Given the description of an element on the screen output the (x, y) to click on. 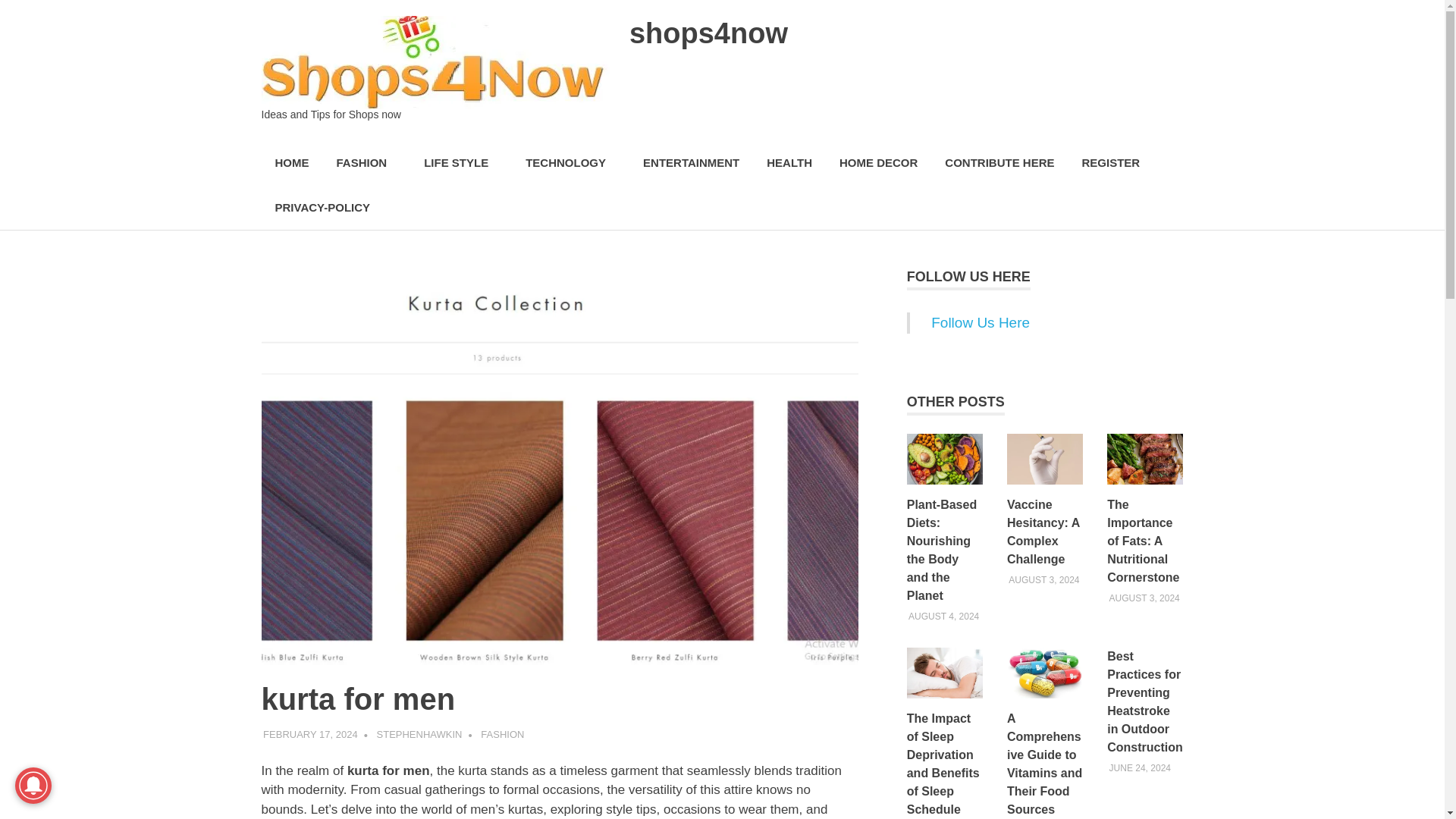
TECHNOLOGY (570, 162)
STEPHENHAWKIN (420, 734)
View all posts by stephenhawkin (420, 734)
HOME DECOR (878, 162)
PRIVACY-POLICY (322, 207)
REGISTER (1110, 162)
FASHION (502, 734)
LIFE STYLE (461, 162)
FEBRUARY 17, 2024 (310, 734)
CONTRIBUTE HERE (999, 162)
ENTERTAINMENT (690, 162)
FASHION (366, 162)
2:16 am (310, 734)
shops4now (707, 33)
HOME (290, 162)
